Given the description of an element on the screen output the (x, y) to click on. 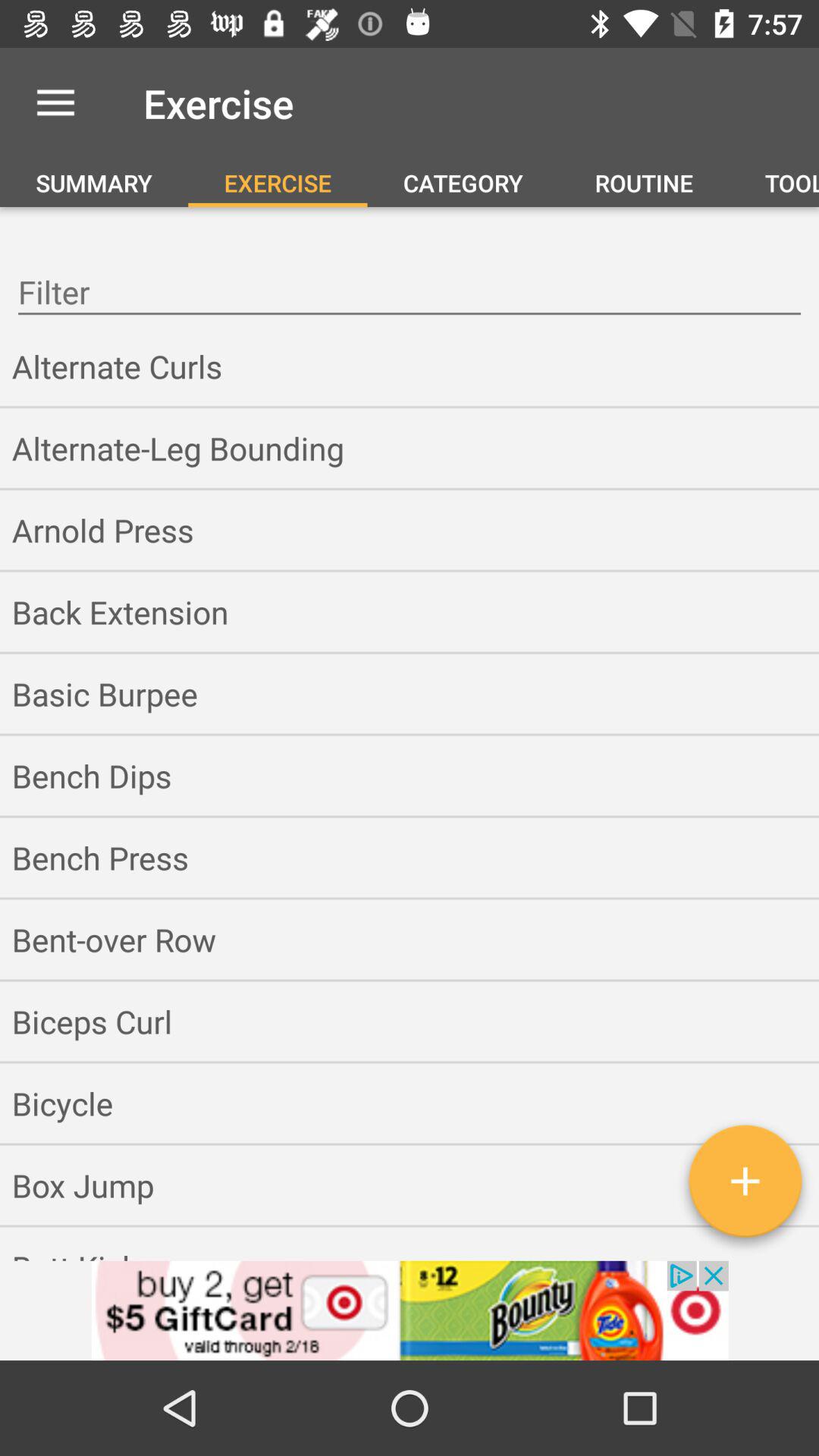
add an exercise (745, 1186)
